Given the description of an element on the screen output the (x, y) to click on. 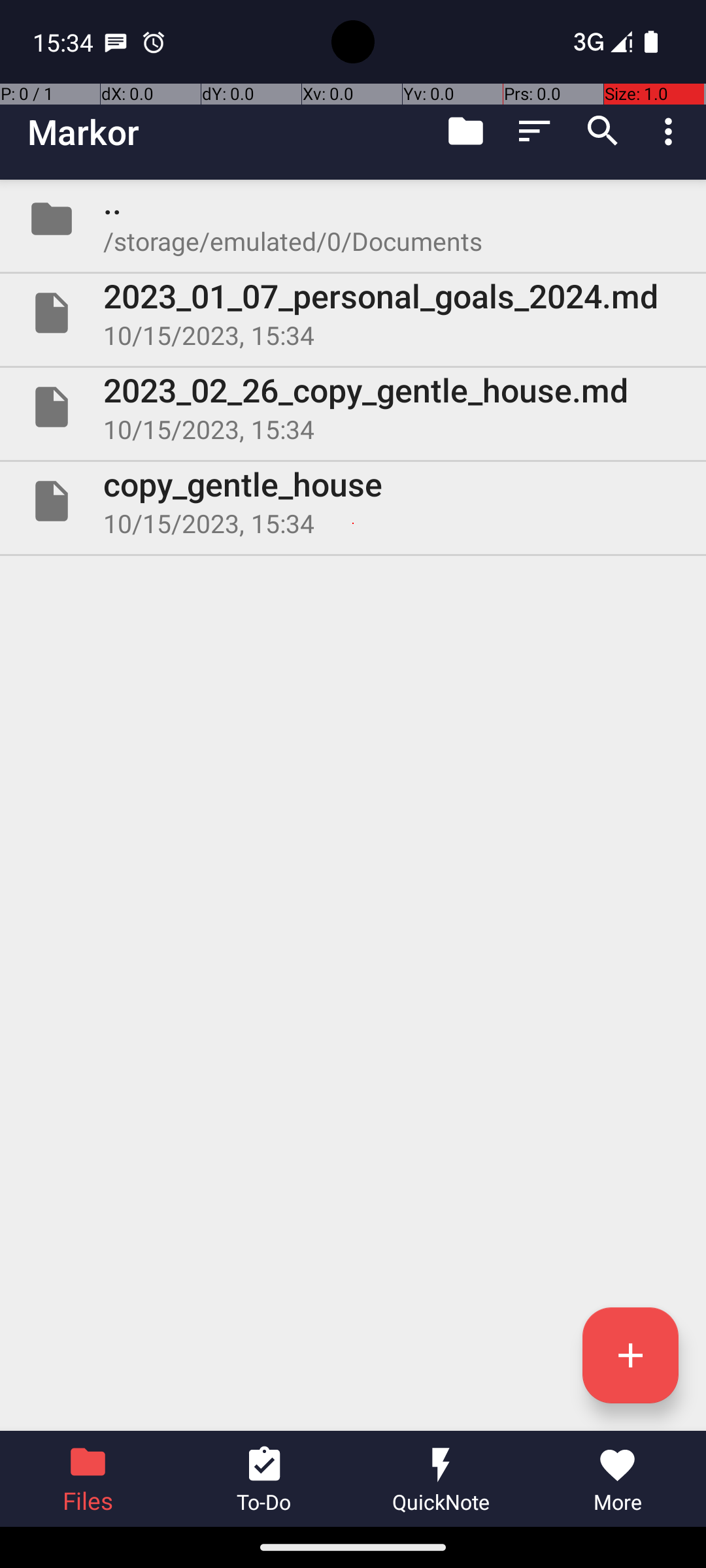
File 2023_01_07_personal_goals_2024.md  Element type: android.widget.LinearLayout (353, 312)
File 2023_02_26_copy_gentle_house.md  Element type: android.widget.LinearLayout (353, 406)
File copy_gentle_house  Element type: android.widget.LinearLayout (353, 500)
